Given the description of an element on the screen output the (x, y) to click on. 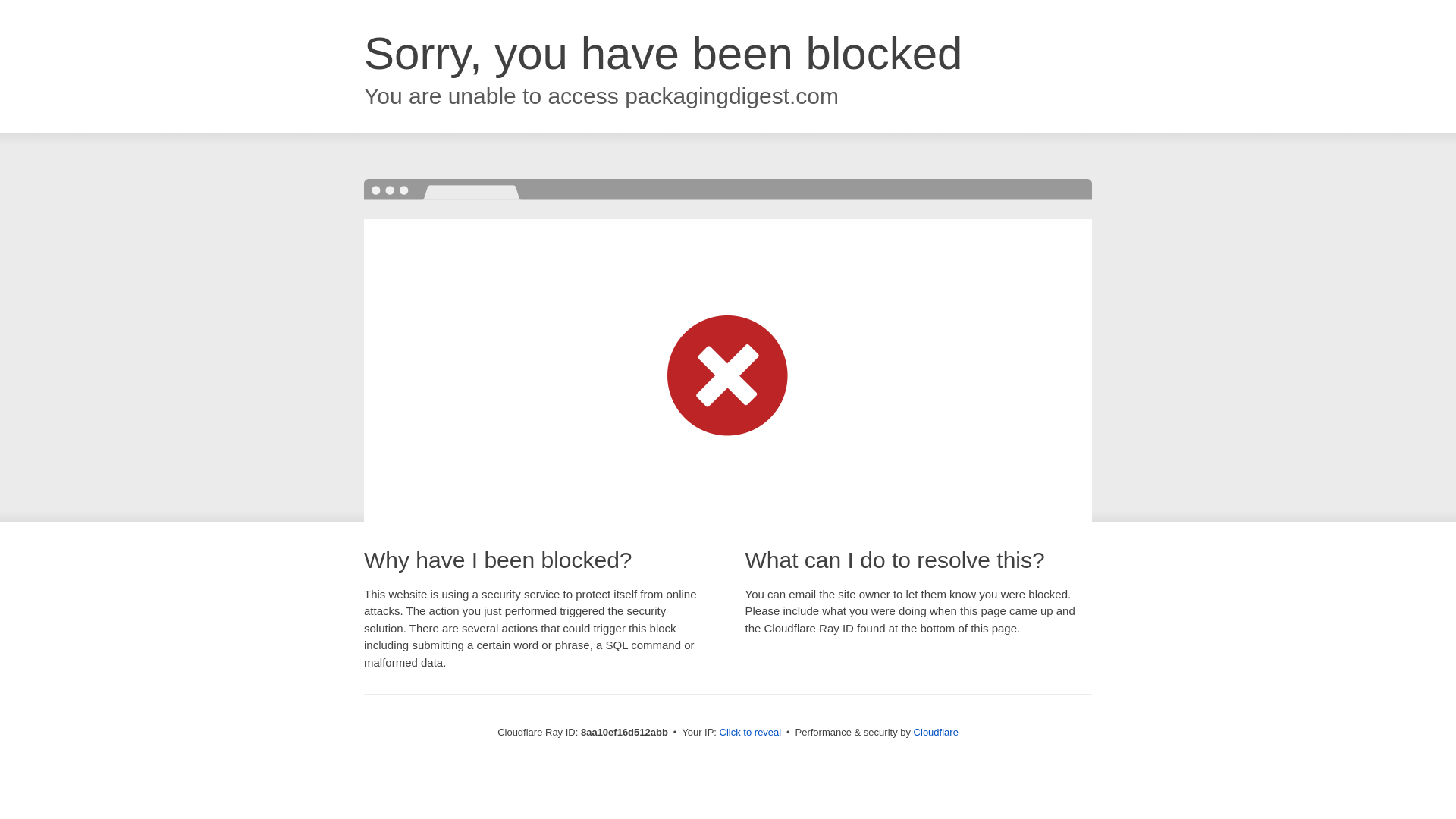
Cloudflare (936, 731)
Click to reveal (750, 732)
